Given the description of an element on the screen output the (x, y) to click on. 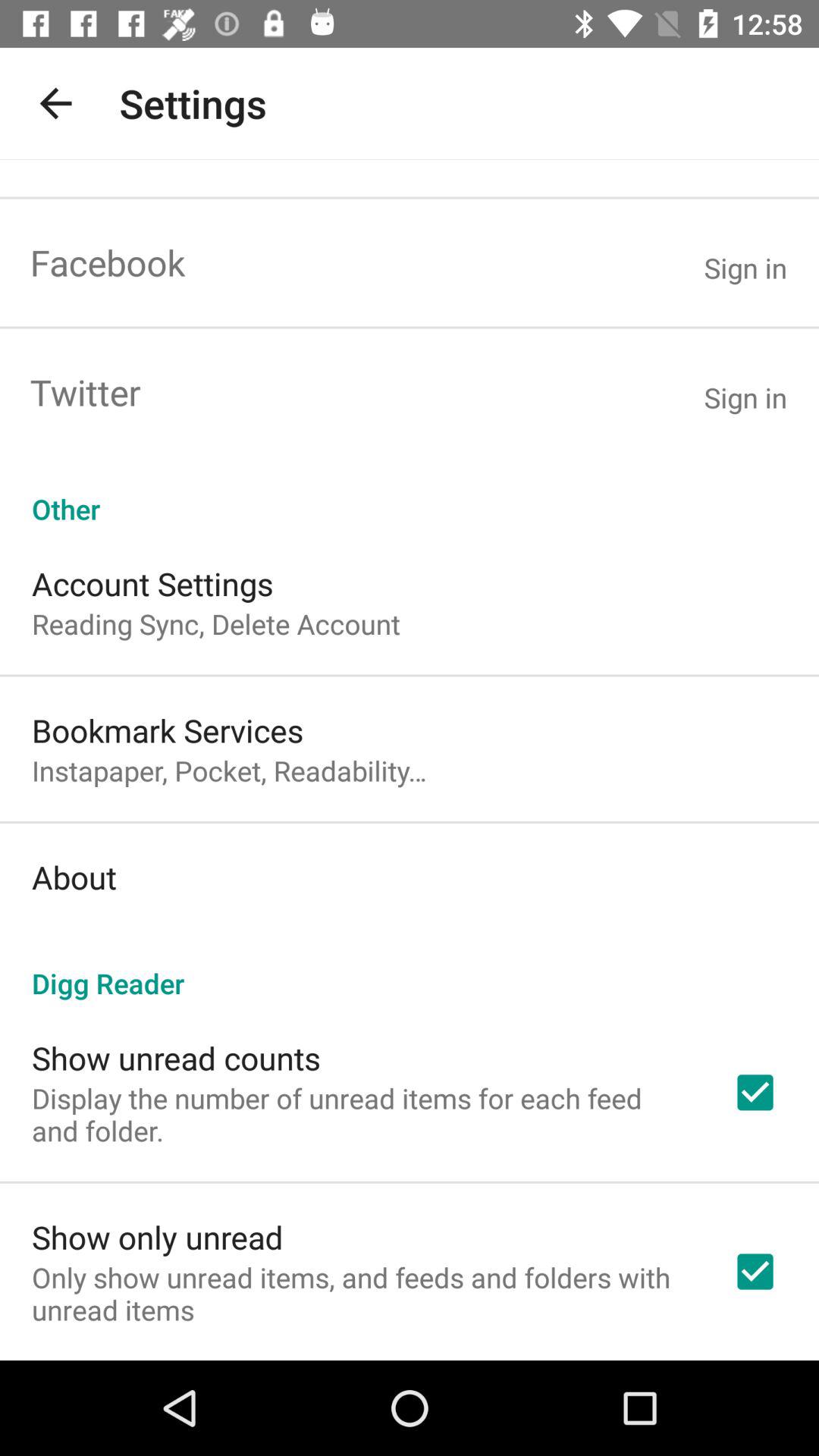
tap the about app (73, 876)
